Given the description of an element on the screen output the (x, y) to click on. 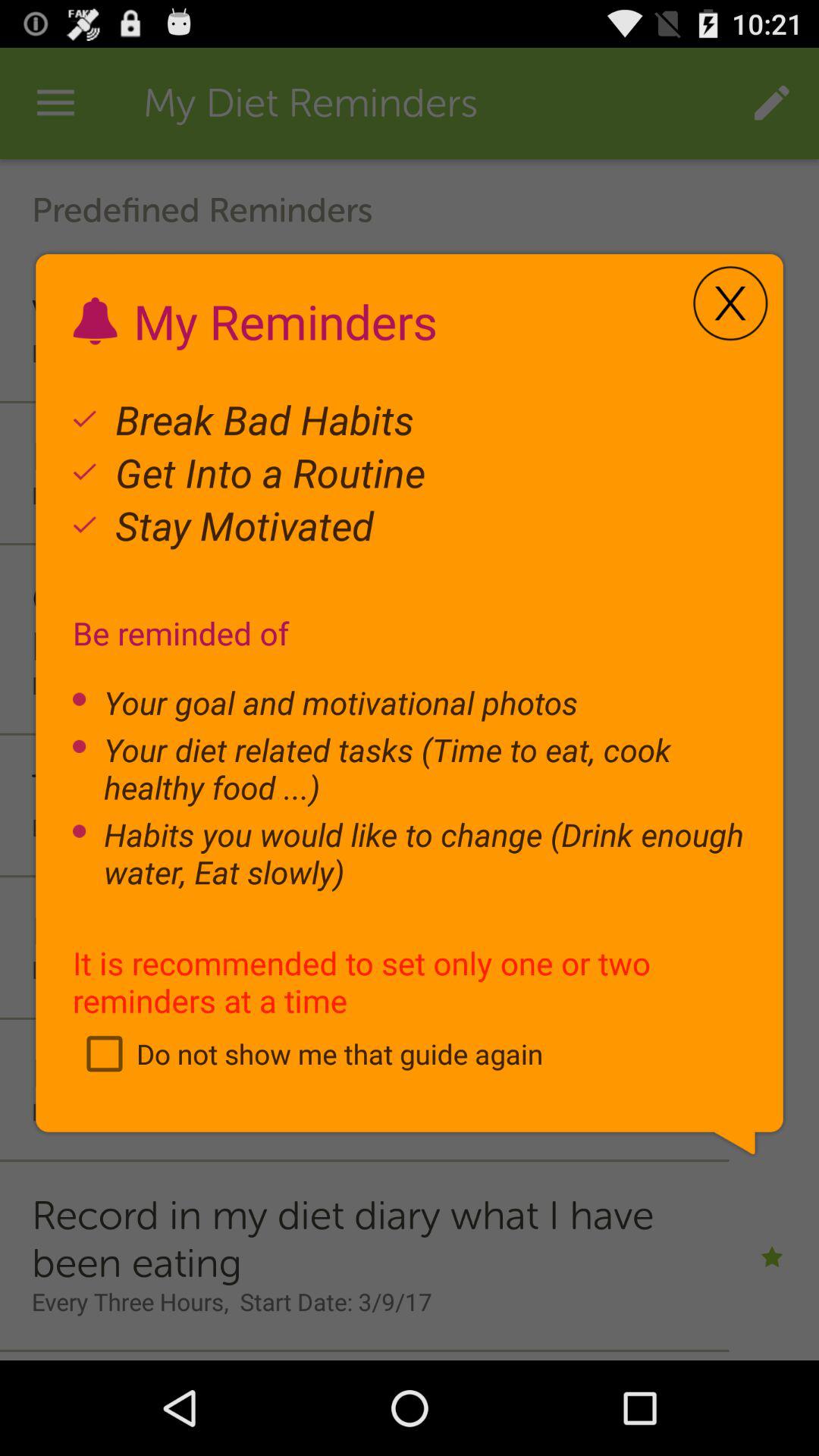
turn off the icon above be reminded of item (730, 303)
